Given the description of an element on the screen output the (x, y) to click on. 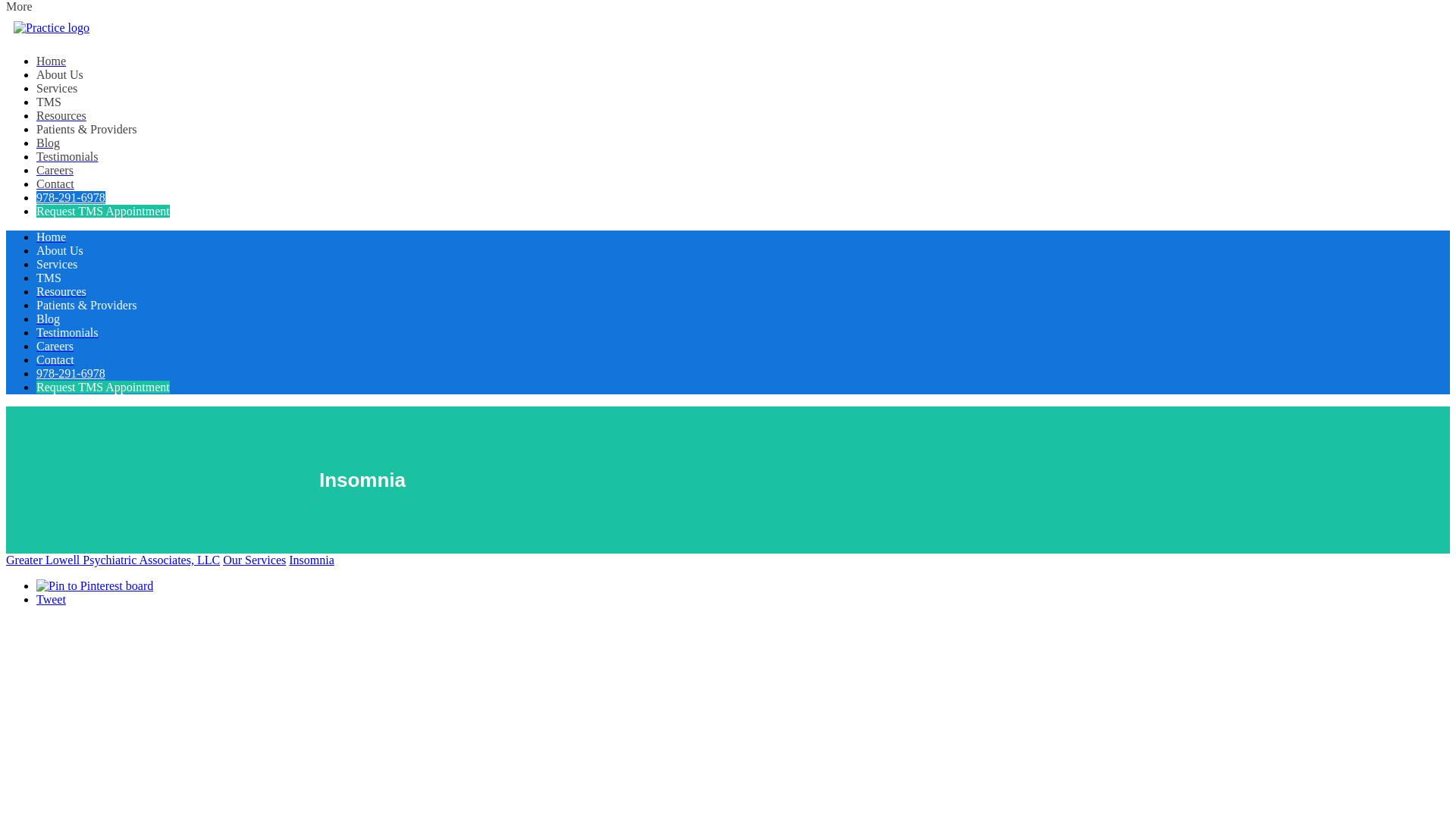
Testimonials (67, 155)
Home (50, 236)
Home (50, 60)
Request TMS Appointment (103, 210)
TMS (48, 101)
Contact (55, 183)
Careers (55, 169)
About Us (59, 250)
Blog (47, 142)
978-291-6978 (70, 196)
About Us (59, 74)
Resources (60, 115)
Services (56, 88)
